Given the description of an element on the screen output the (x, y) to click on. 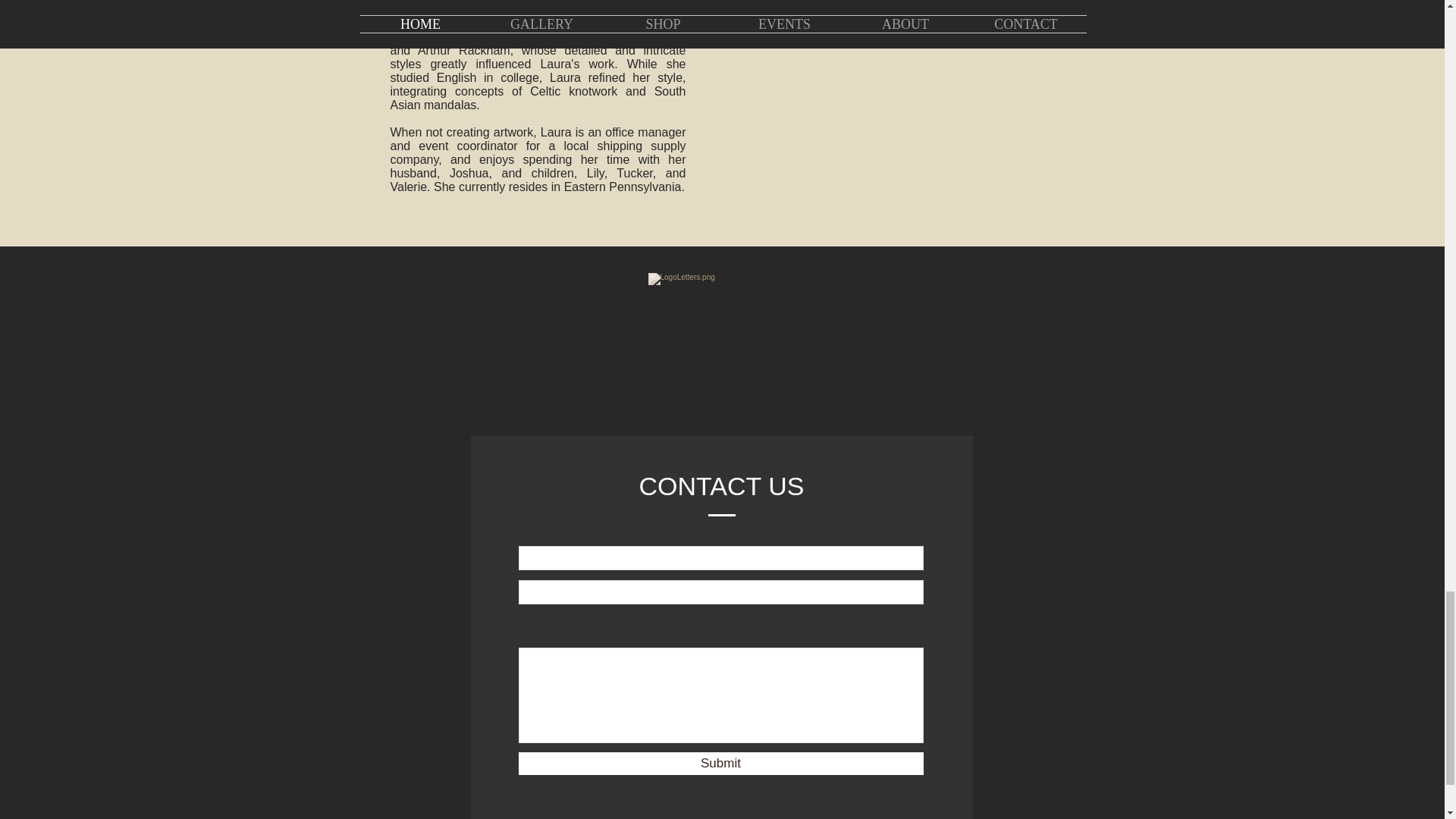
Submit (720, 763)
